Given the description of an element on the screen output the (x, y) to click on. 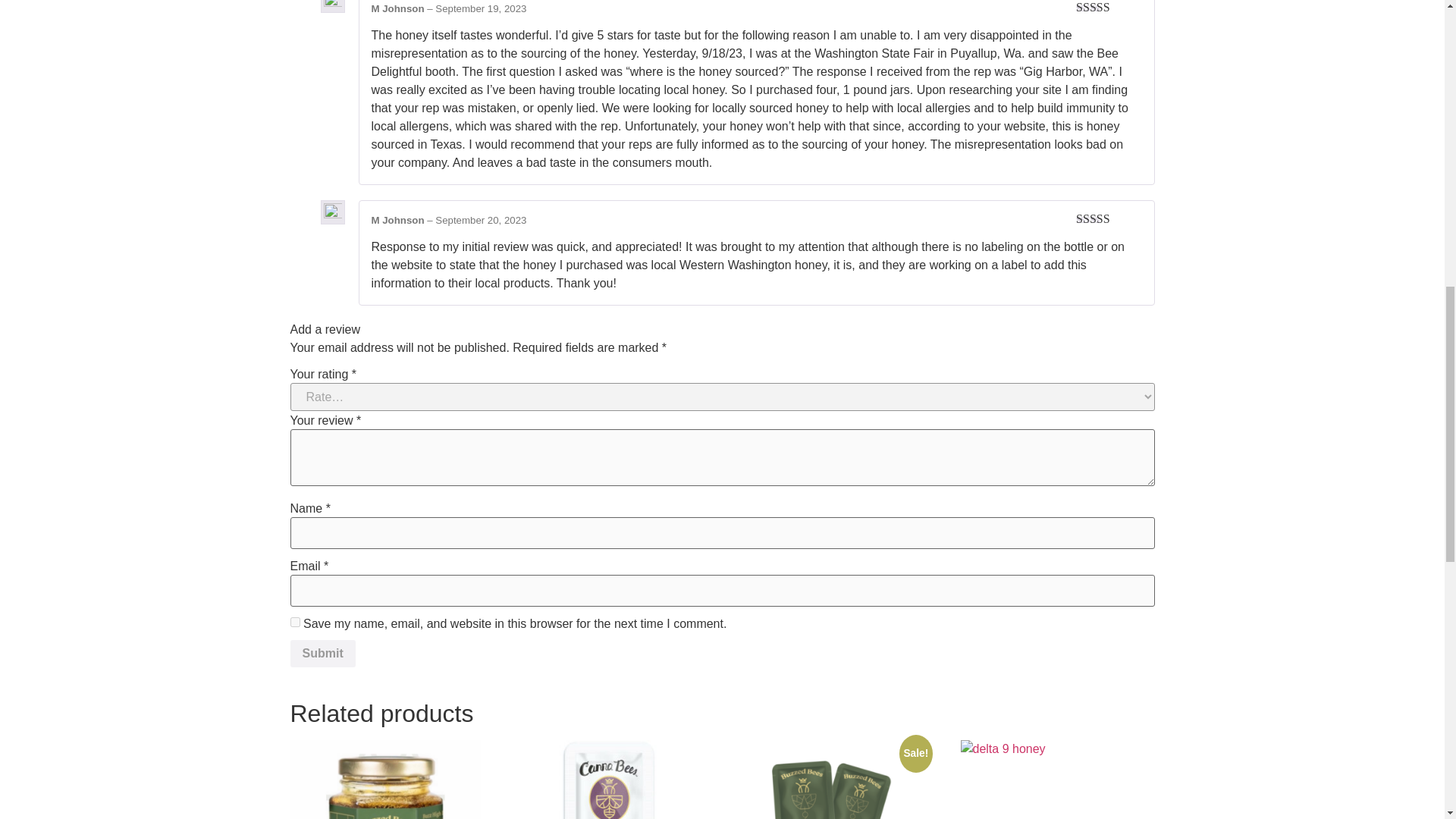
Submit (322, 653)
yes (294, 622)
Submit (322, 653)
